Given the description of an element on the screen output the (x, y) to click on. 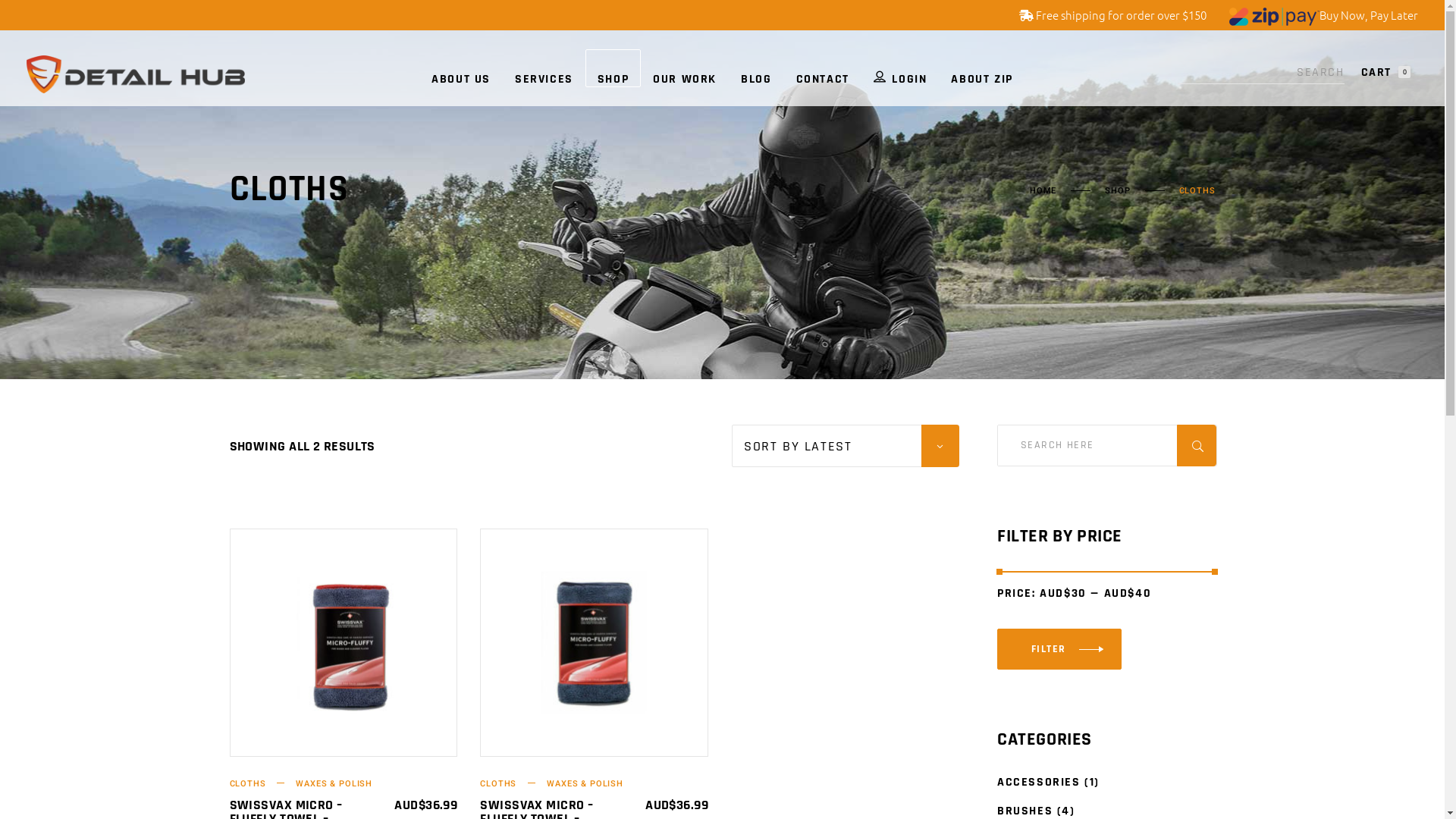
WAXES & POLISH Element type: text (584, 783)
SHOP Element type: text (1116, 190)
ACCESSORIES Element type: text (1038, 782)
BLOG Element type: text (755, 68)
CART
0 Element type: text (1385, 72)
CLOTHS Element type: text (262, 783)
LOGIN Element type: text (900, 68)
HOME Element type: text (1042, 190)
WAXES & POLISH Element type: text (333, 783)
CLOTHS Element type: text (513, 783)
FILTER Element type: text (1059, 648)
ABOUT US Element type: text (461, 68)
ABOUT ZIP Element type: text (981, 68)
SERVICES Element type: text (543, 68)
CONTACT Element type: text (822, 68)
SHOP Element type: text (613, 68)
OUR WORK Element type: text (684, 68)
